Given the description of an element on the screen output the (x, y) to click on. 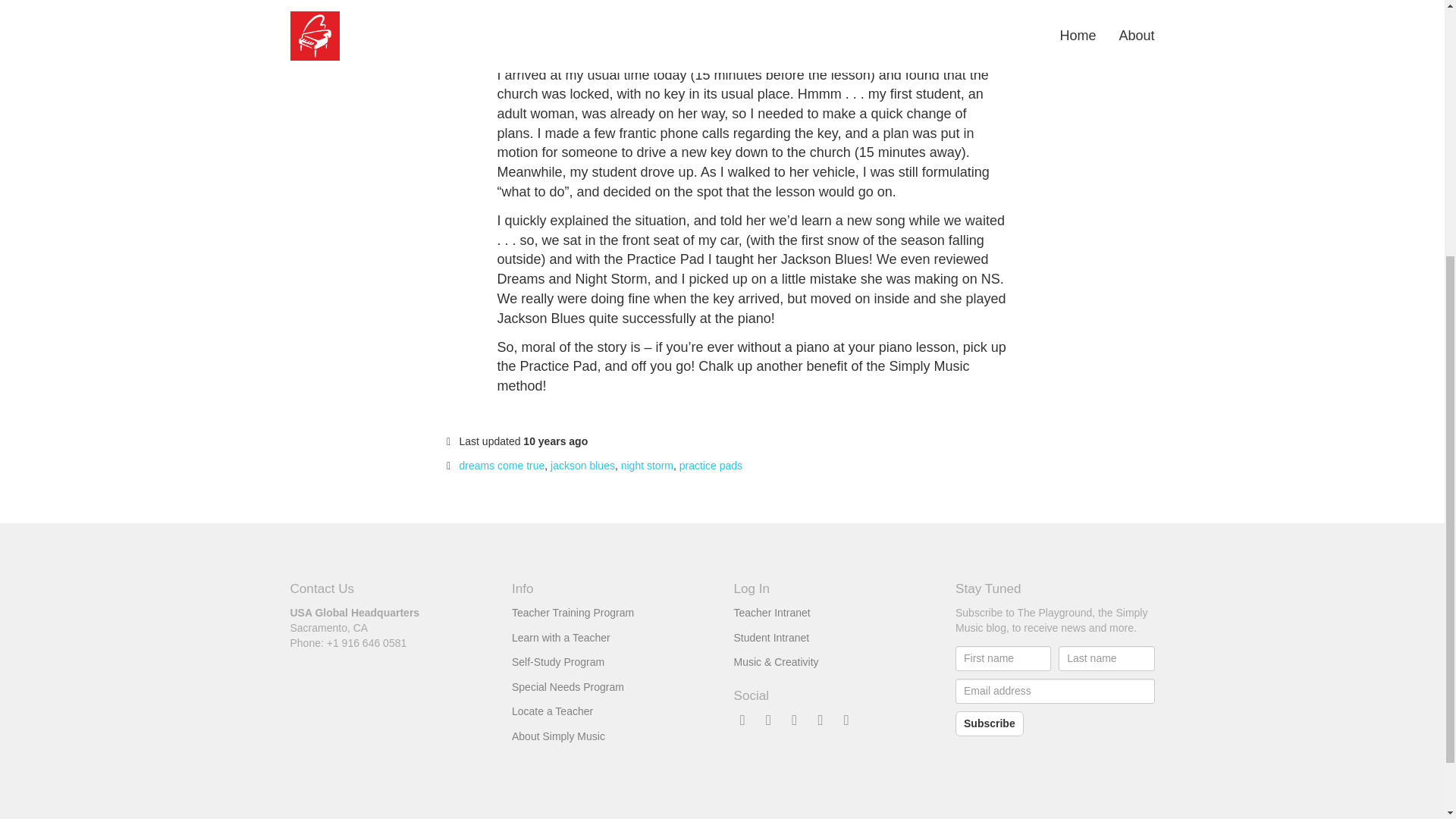
Learn with a Teacher (561, 637)
Learn more about becoming a teacher (572, 612)
Teacher Training Program (572, 612)
Log in to your Simply Music Student Intranet account (771, 637)
Locate a Teacher (552, 711)
Self-Study Program (558, 662)
dreams come true (502, 465)
Subscribe (989, 723)
Find Simply Music Teachers near you (552, 711)
Log in to your Simply Music Teacher Intranet account (771, 612)
